Given the description of an element on the screen output the (x, y) to click on. 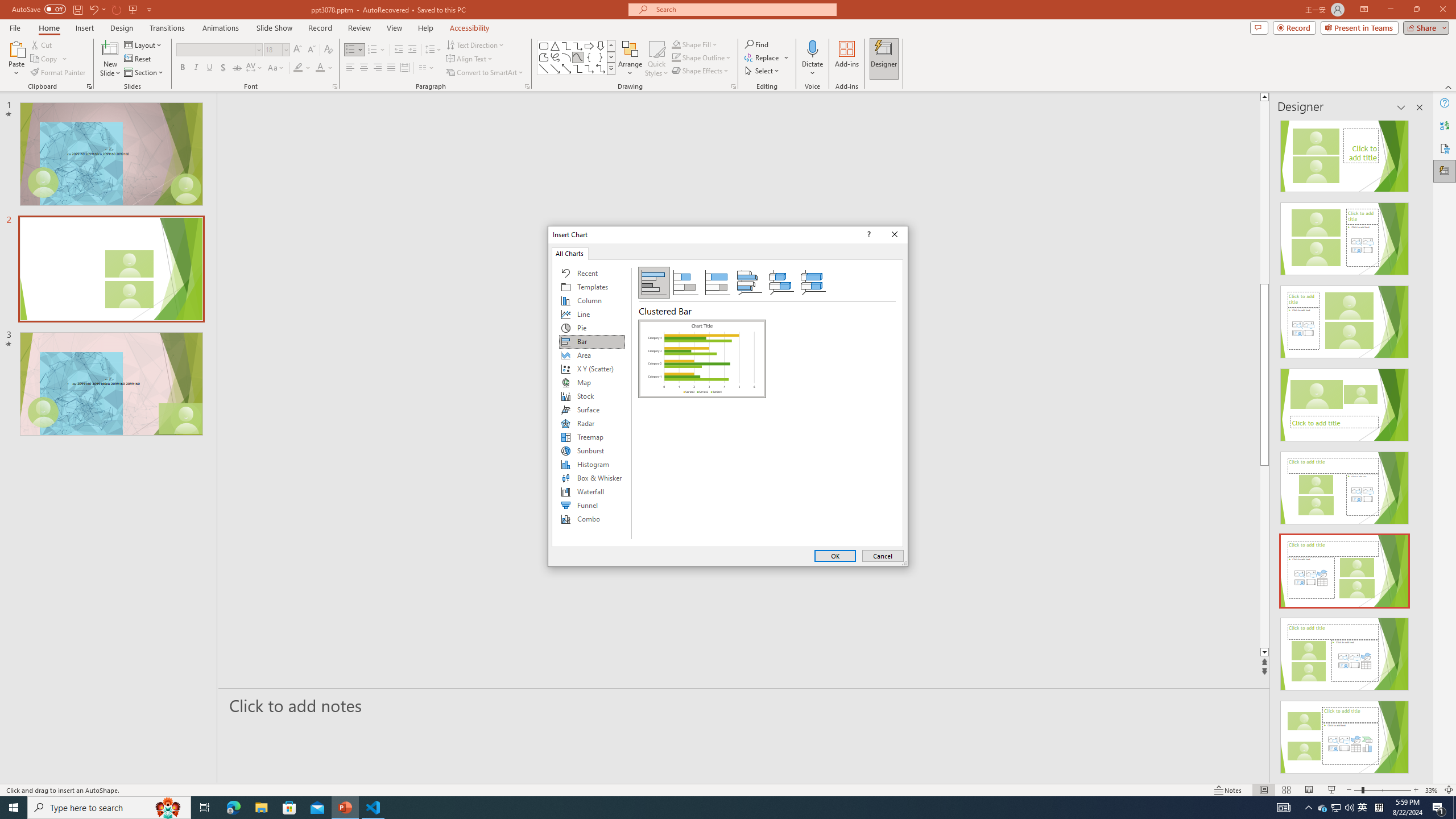
Underline (209, 67)
Box & Whisker (591, 477)
Shadow (223, 67)
Distributed (404, 67)
Pie (591, 327)
Class: NetUIGalleryContainer (701, 429)
X Y (Scatter) (591, 368)
